Given the description of an element on the screen output the (x, y) to click on. 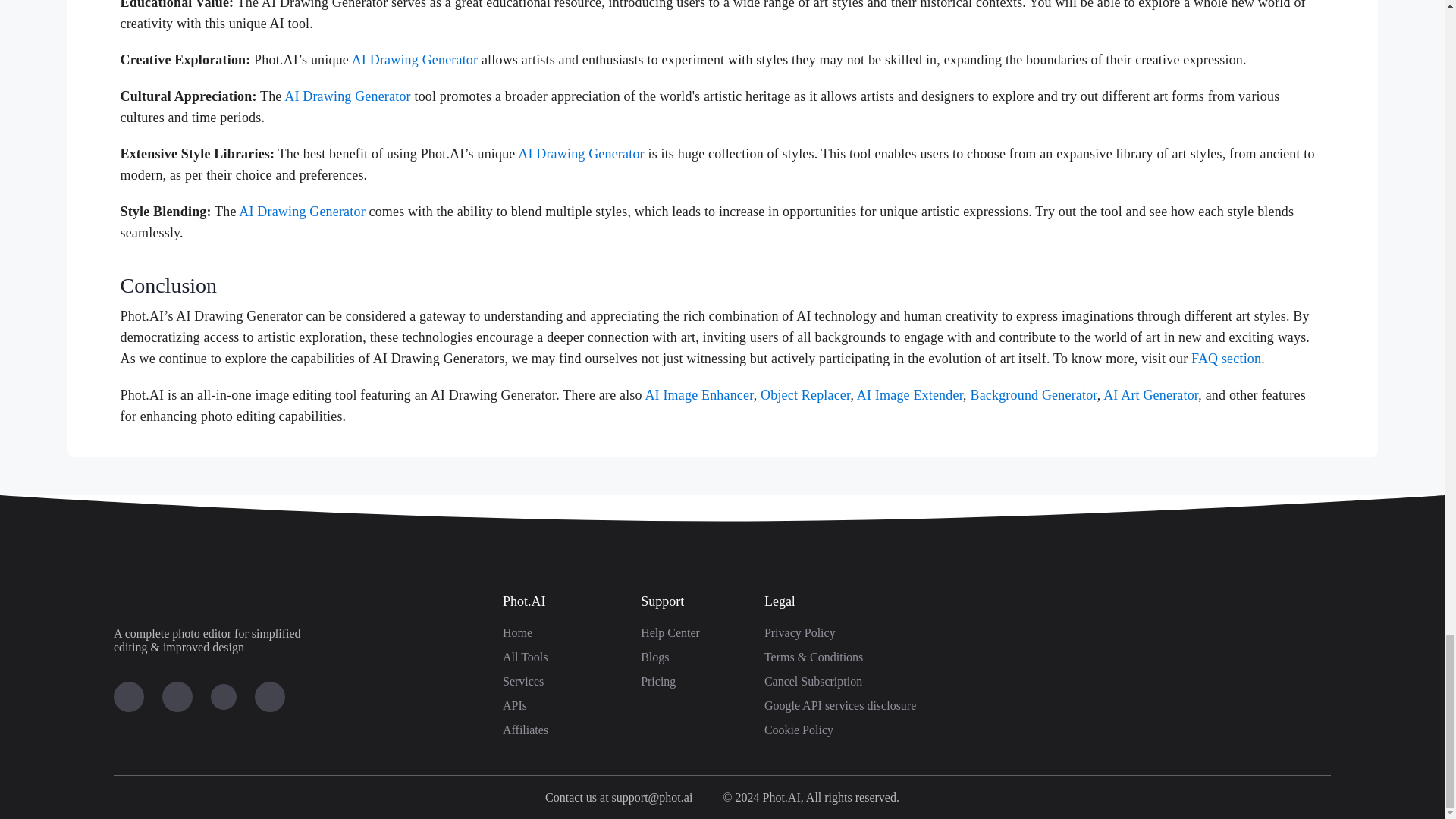
Instagram link (176, 696)
Twitter link (223, 696)
Youtube link (128, 696)
Pinterest link (269, 696)
